Given the description of an element on the screen output the (x, y) to click on. 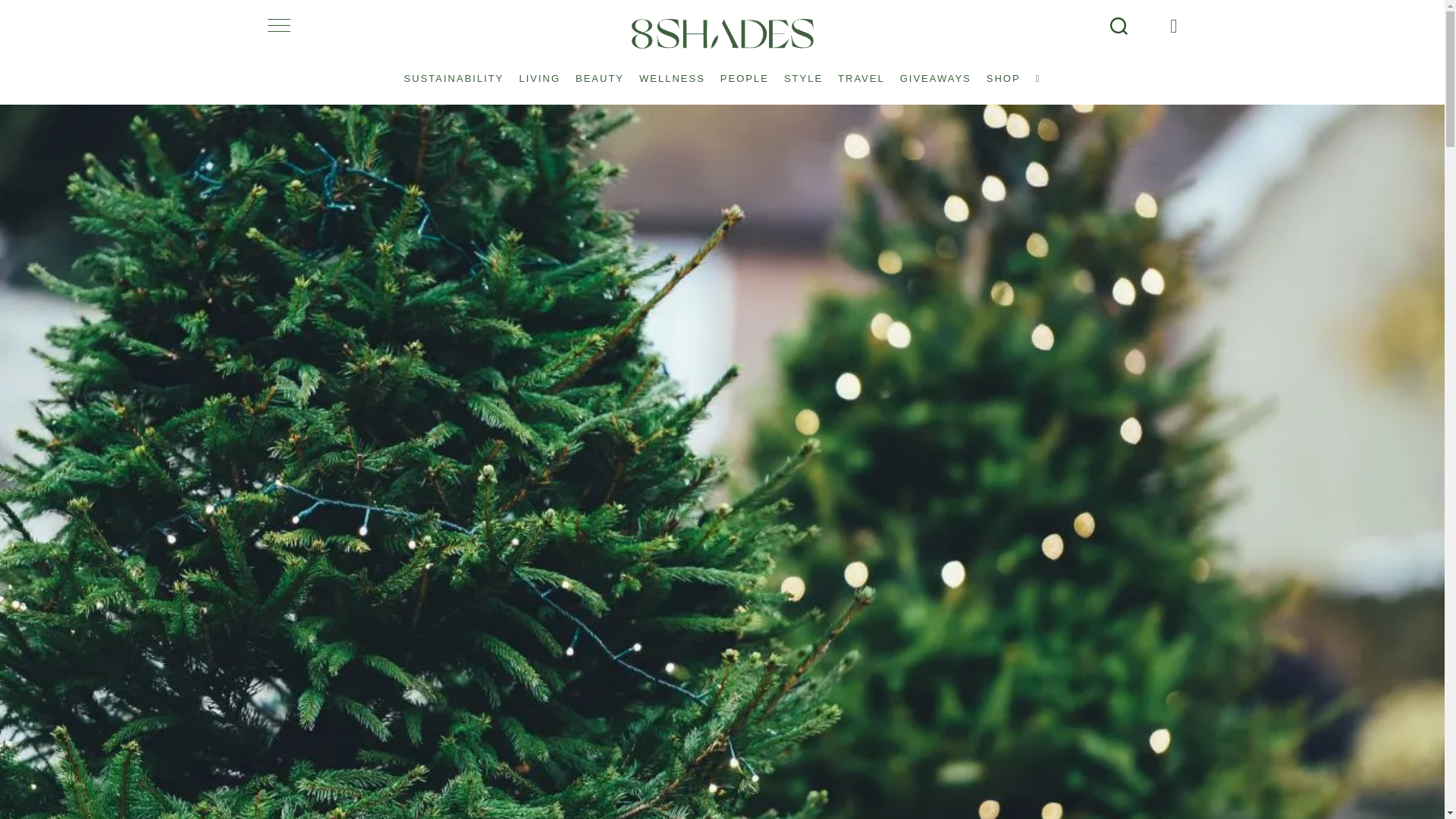
WELLNESS (672, 71)
PEOPLE (744, 71)
GIVEAWAYS (935, 71)
SUSTAINABILITY (454, 71)
SHOP (1002, 71)
LIVING (539, 71)
BEAUTY (599, 71)
STYLE (802, 71)
TRAVEL (860, 71)
